Given the description of an element on the screen output the (x, y) to click on. 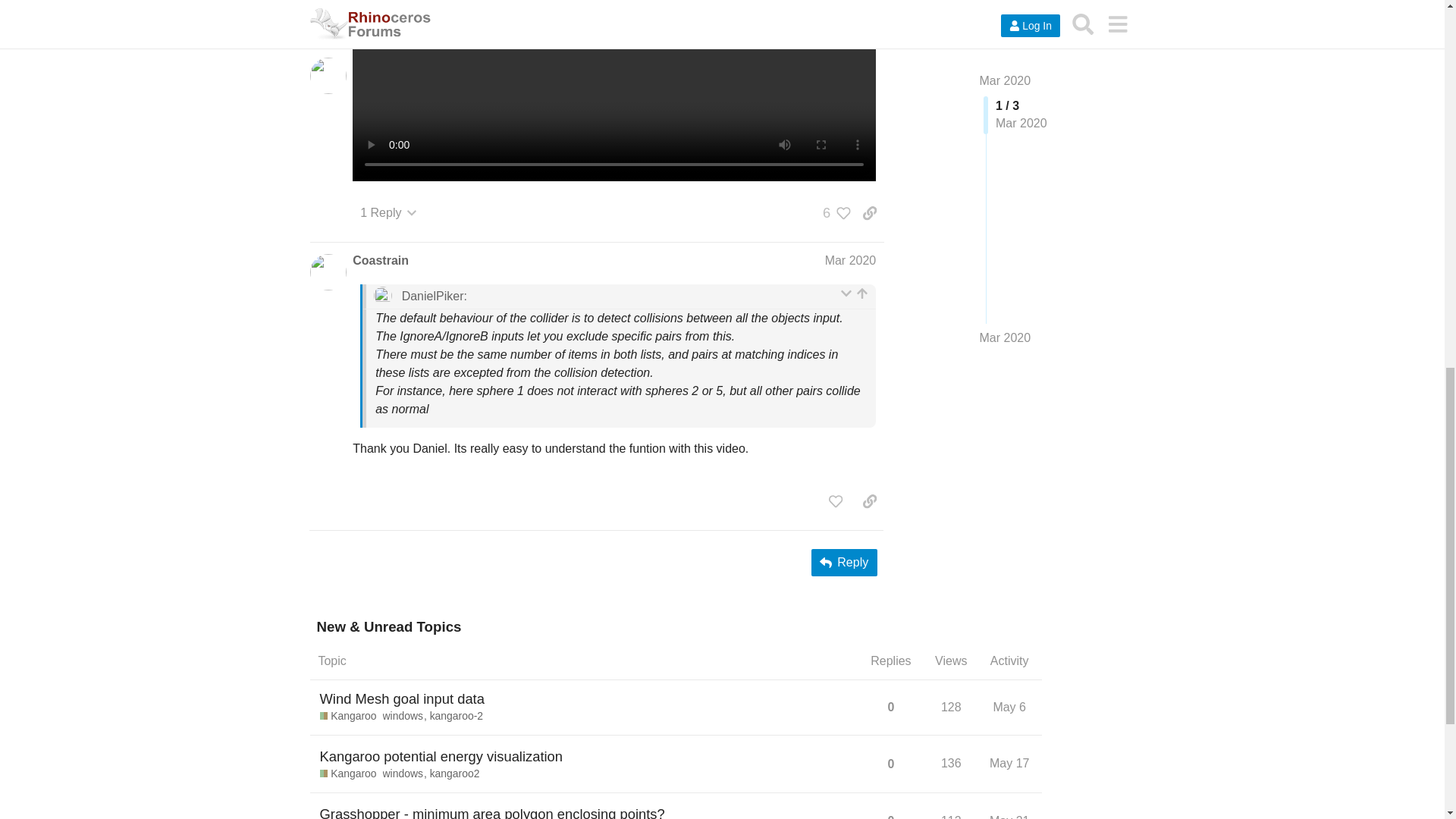
Mar 2020 (850, 259)
1 Reply (387, 212)
Reply (843, 562)
Coastrain (380, 260)
6 (832, 212)
